Given the description of an element on the screen output the (x, y) to click on. 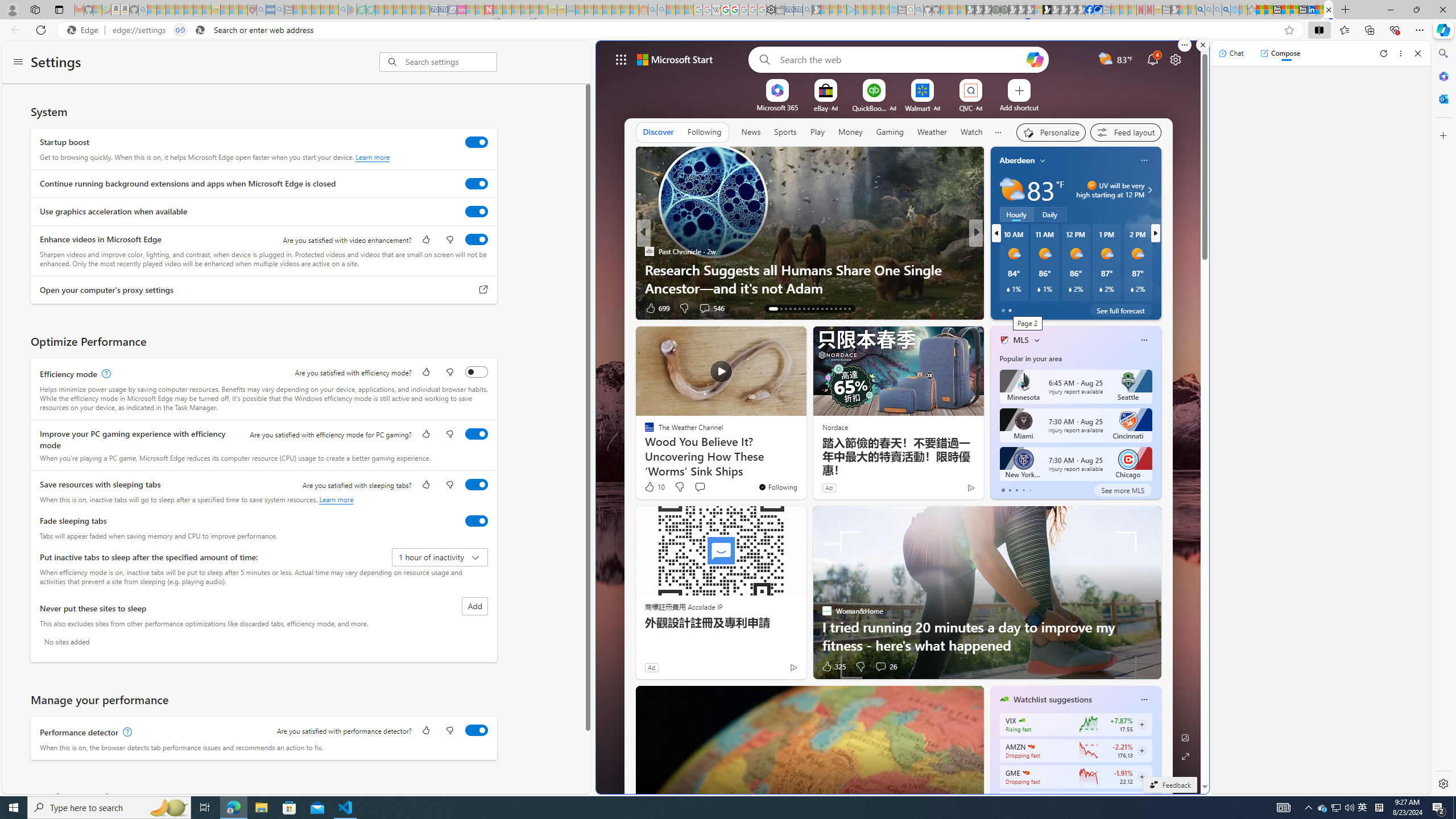
TechRadar (999, 250)
69 Like (1005, 307)
Creatures Found at the Bottom of the Mississippi River (1159, 278)
Utah sues federal government - Search - Sleeping (661, 9)
AutomationID: tab-36 (849, 308)
More interests (1036, 340)
Home | Sky Blue Bikes - Sky Blue Bikes - Sleeping (892, 9)
